Given the description of an element on the screen output the (x, y) to click on. 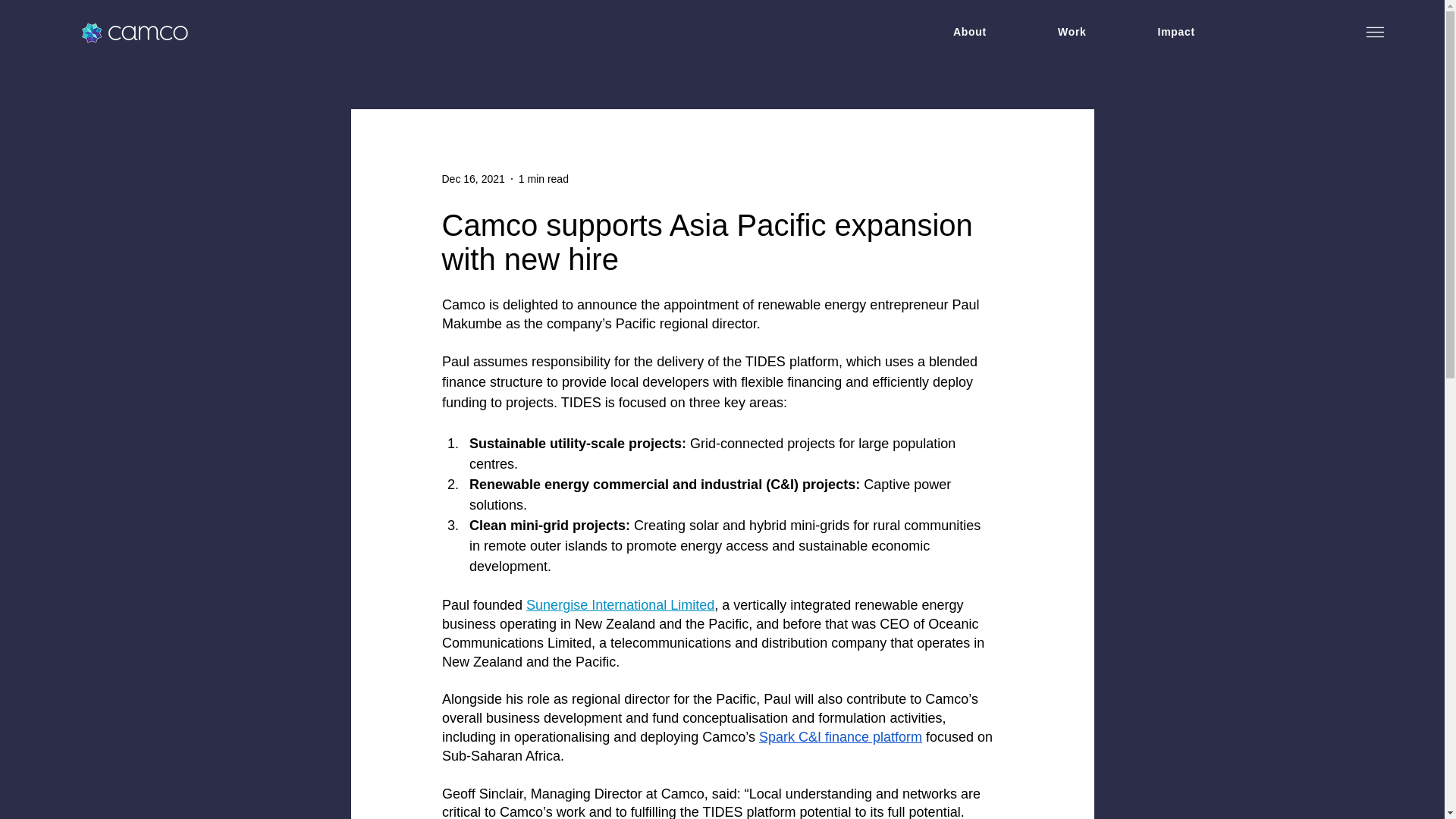
Sunergise International Limited (619, 604)
Dec 16, 2021 (472, 178)
About (969, 31)
Impact (1176, 31)
Work (1072, 31)
1 min read (543, 178)
